Given the description of an element on the screen output the (x, y) to click on. 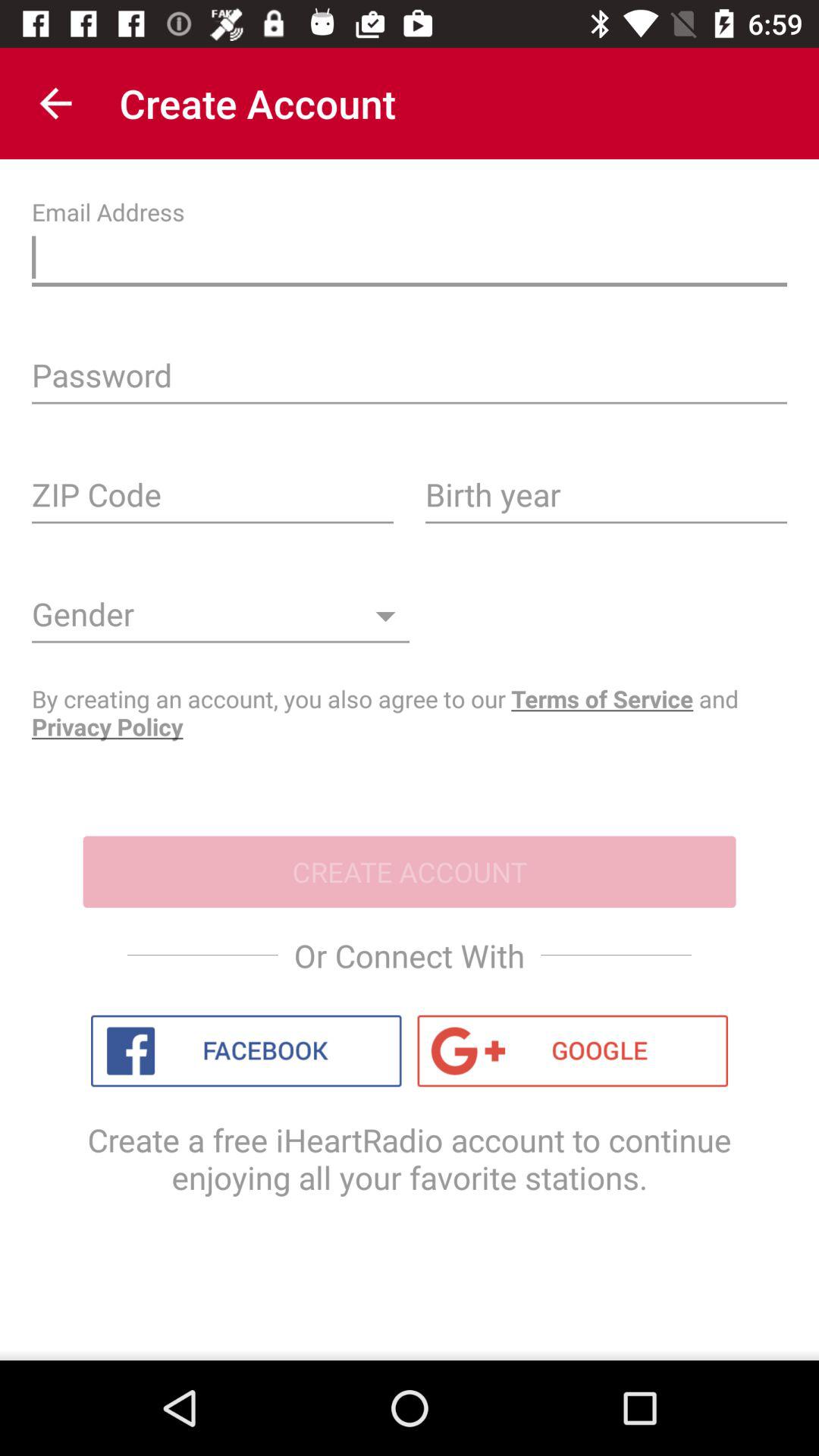
email address entered here (409, 261)
